Given the description of an element on the screen output the (x, y) to click on. 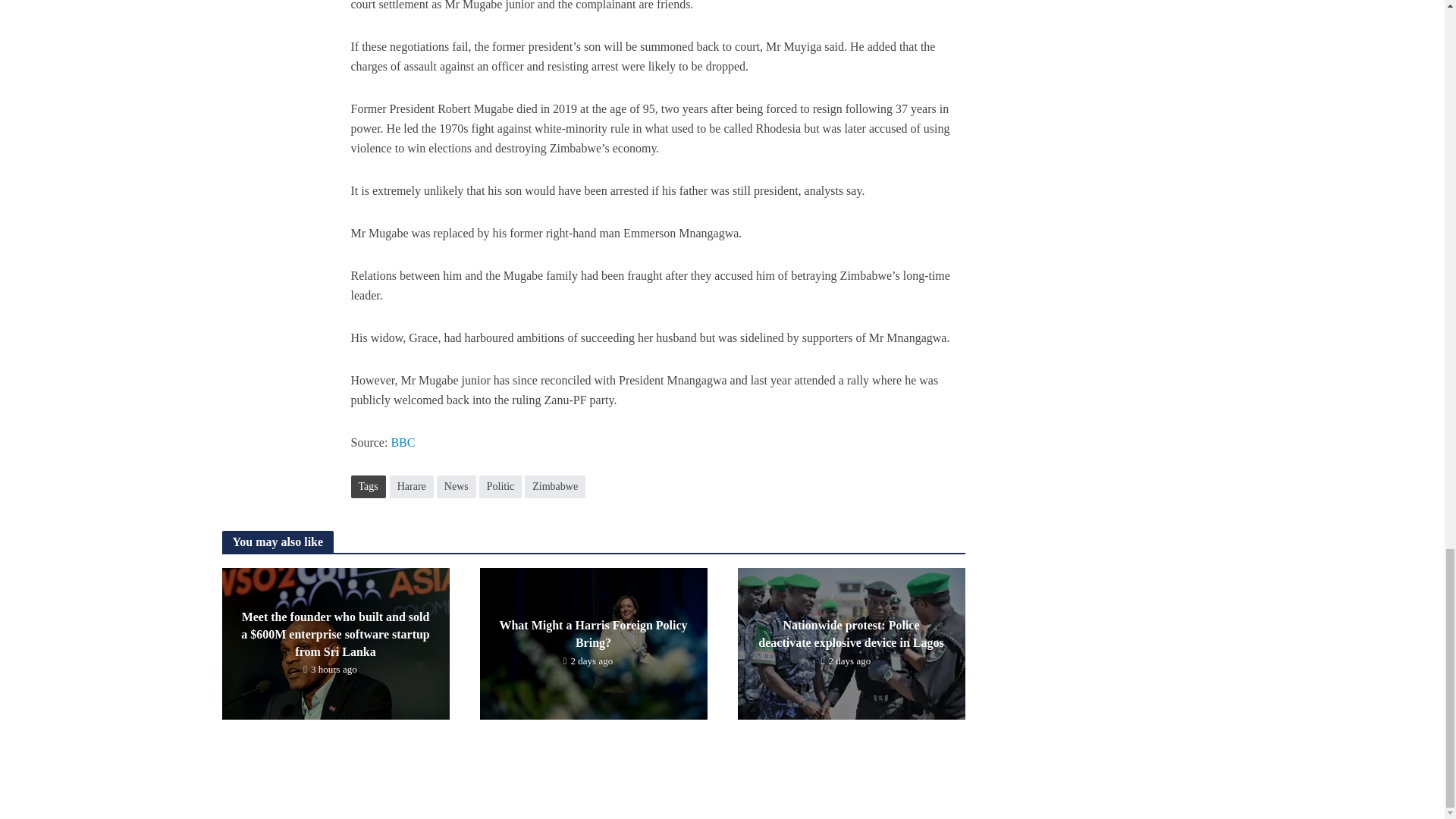
What Might a Harris Foreign Policy Bring? (592, 642)
